Given the description of an element on the screen output the (x, y) to click on. 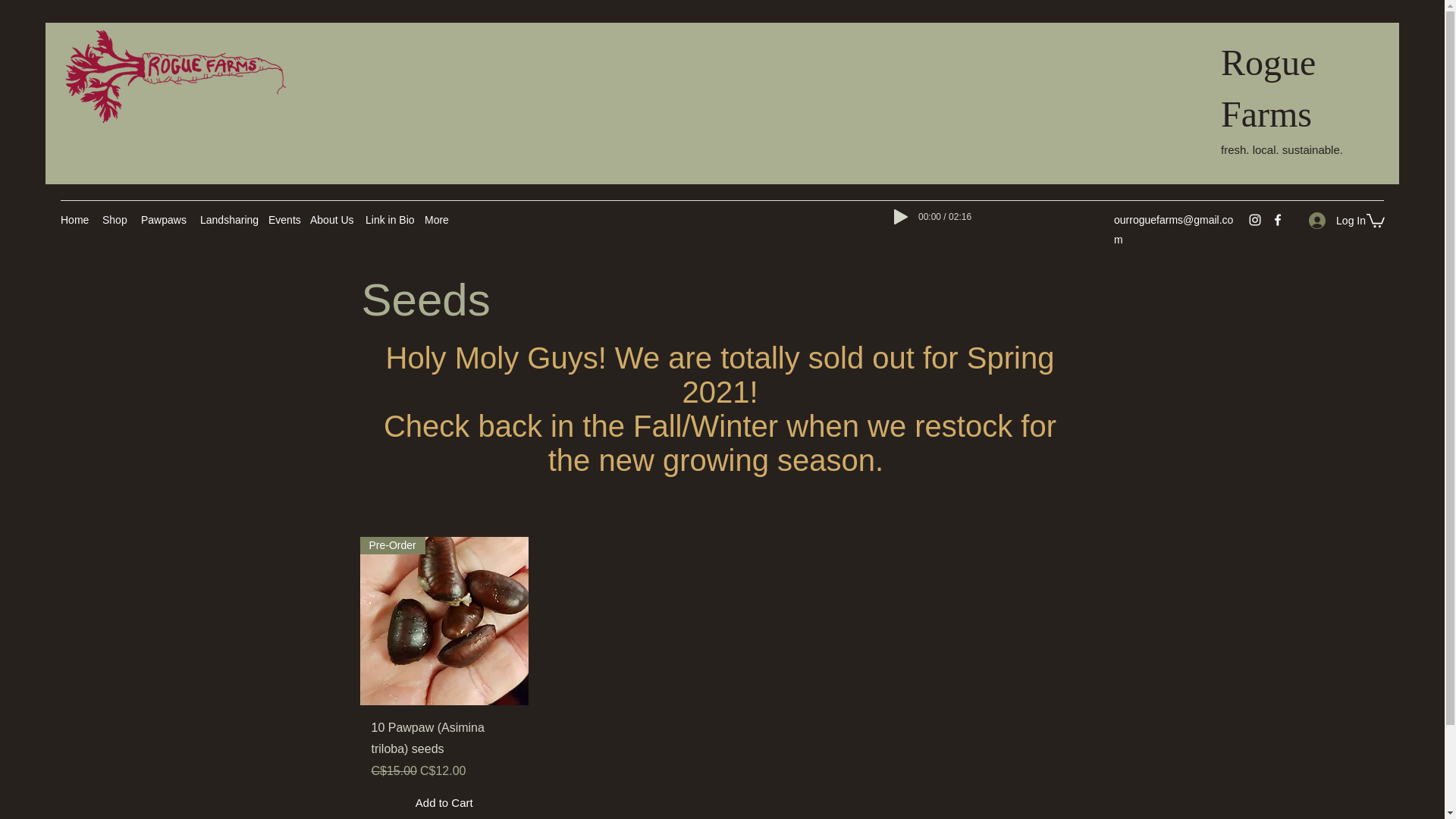
Log In (1336, 221)
Pre-Order (443, 621)
Link in Bio (387, 219)
Rogue Farms (1268, 88)
About Us (330, 219)
Shop (113, 219)
Add to Cart (444, 803)
Events (281, 219)
Landsharing (226, 219)
Home (73, 219)
